Given the description of an element on the screen output the (x, y) to click on. 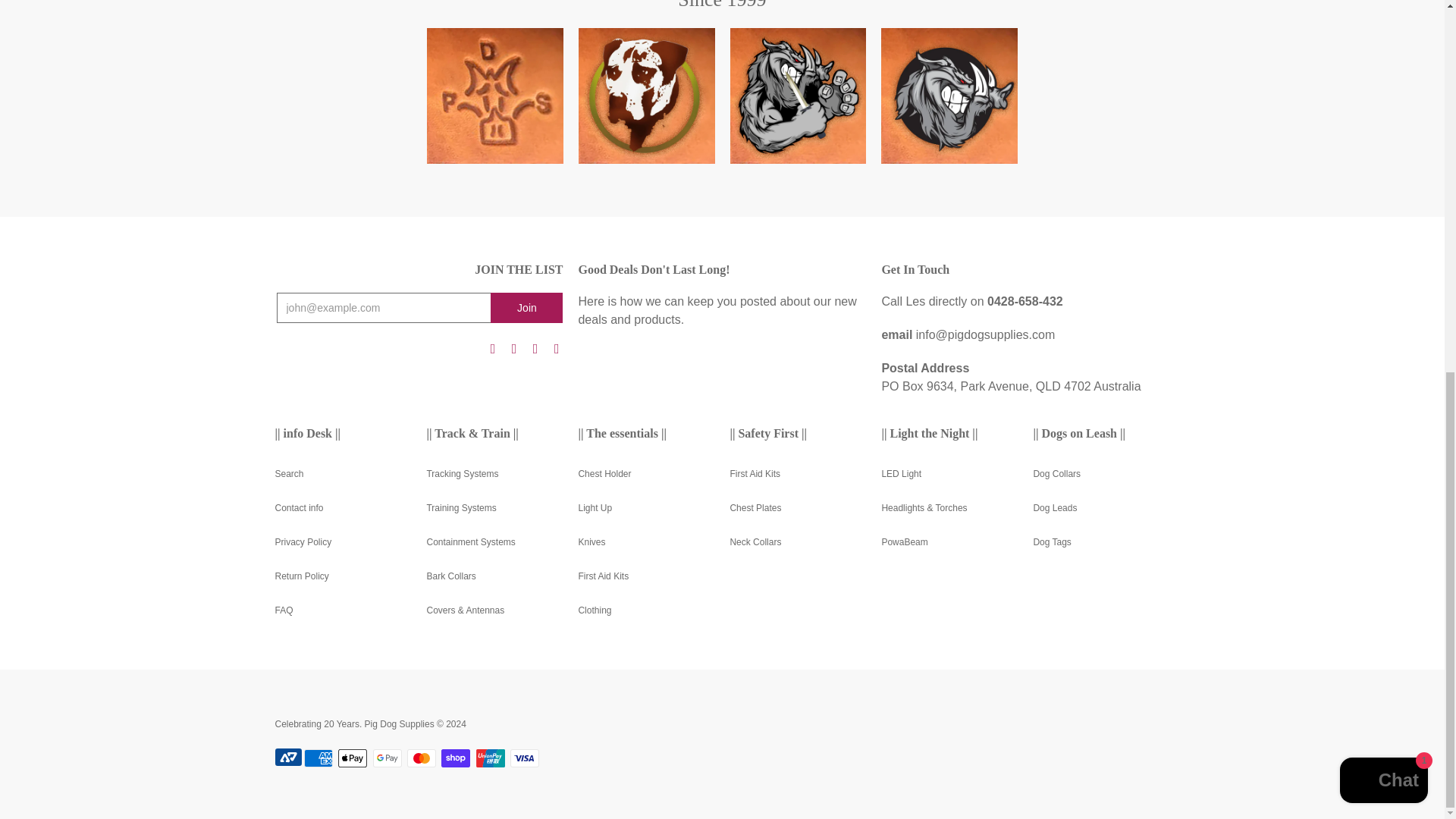
Google Pay (386, 758)
Mastercard (421, 758)
Union Pay (490, 758)
Join (526, 307)
American Express (318, 758)
Visa (524, 758)
Apple Pay (351, 758)
Shop Pay (455, 758)
